Given the description of an element on the screen output the (x, y) to click on. 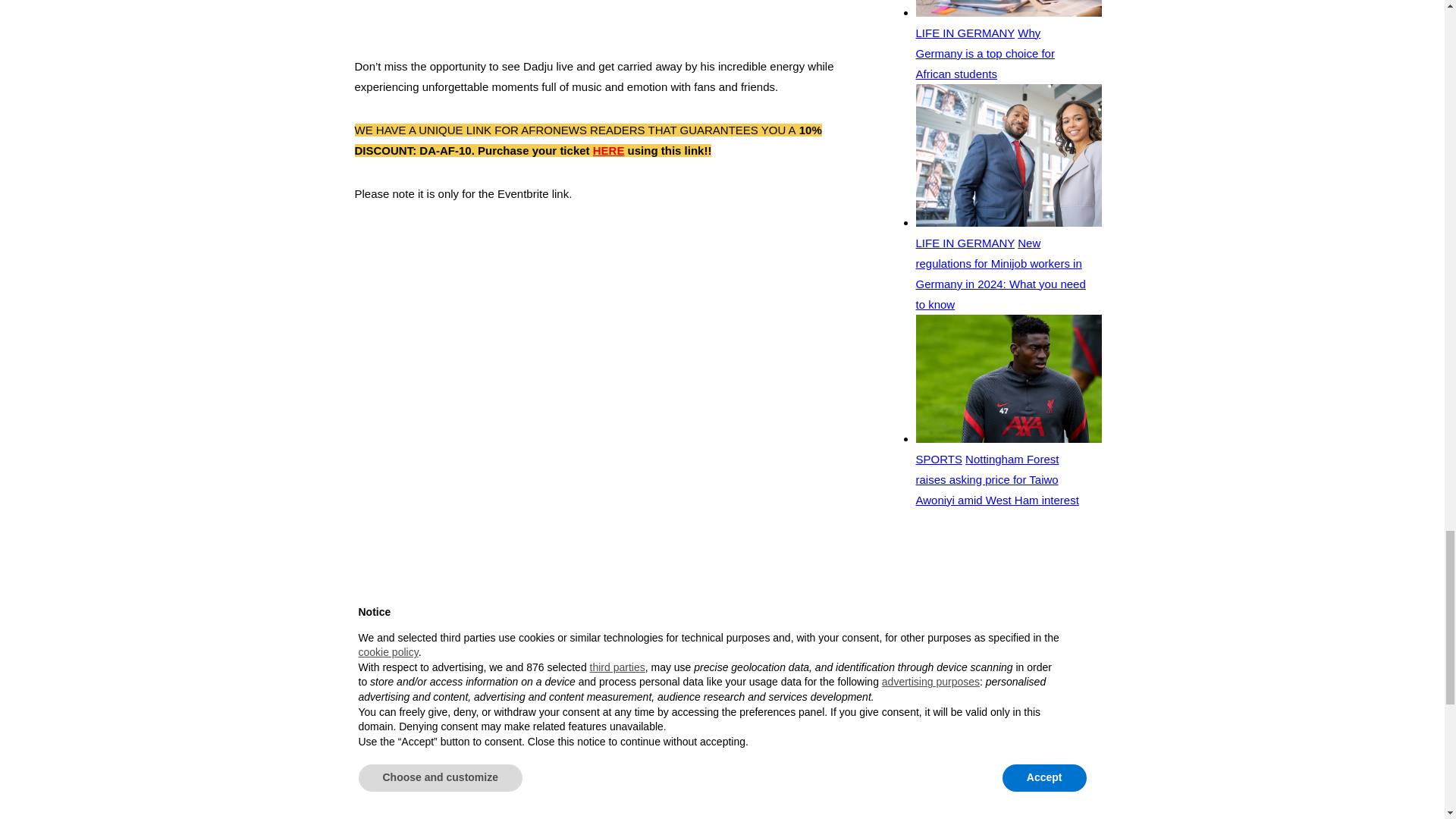
HERE (608, 150)
